Given the description of an element on the screen output the (x, y) to click on. 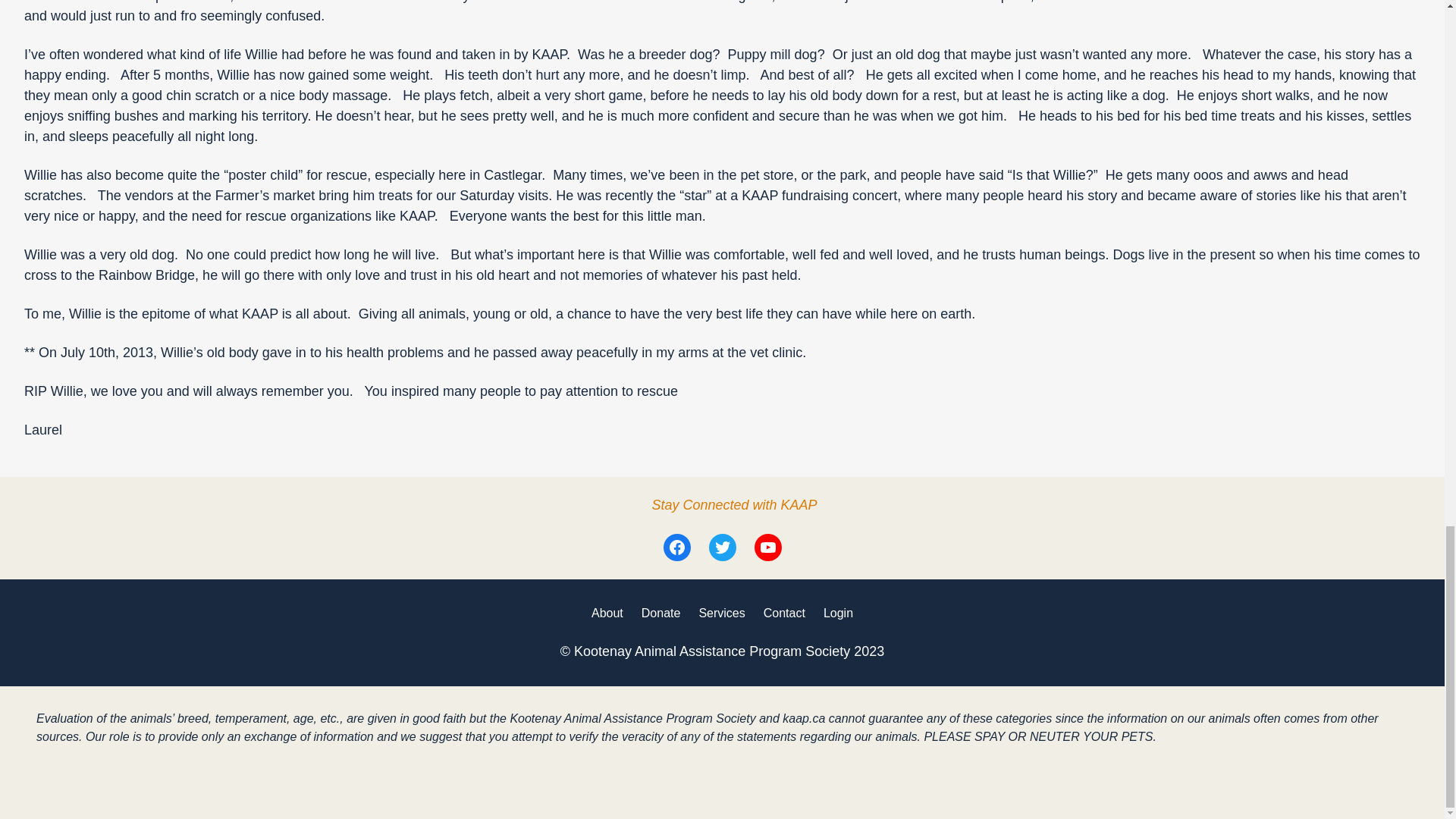
Donate (661, 613)
Services (721, 613)
Login (838, 613)
About (607, 613)
Contact (783, 613)
YouTube (767, 547)
Twitter (721, 547)
Facebook (676, 547)
